Given the description of an element on the screen output the (x, y) to click on. 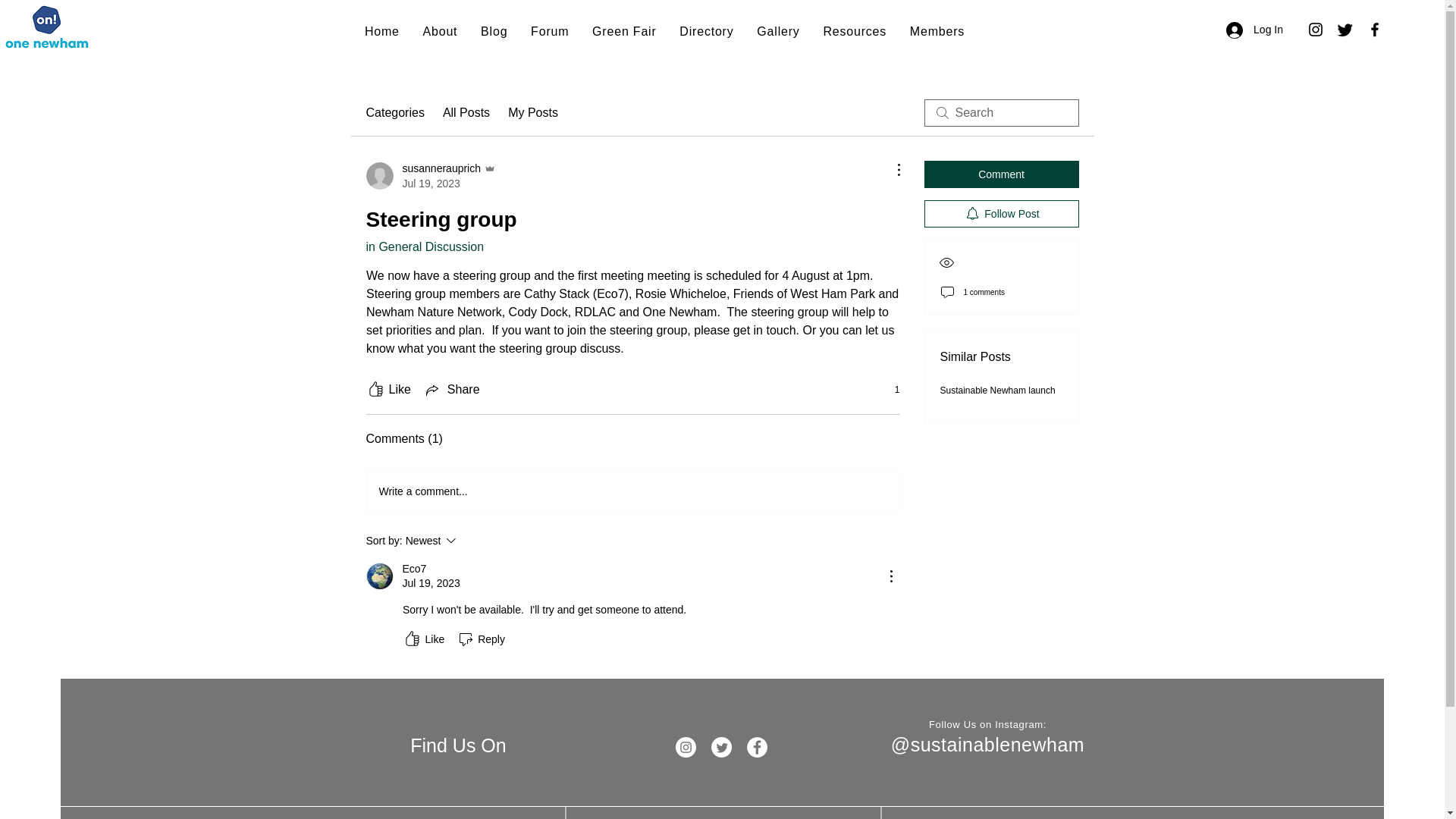
Comment (1000, 174)
All Posts (465, 113)
Like (422, 638)
Eco7 (379, 575)
Sustainable Newham launch (997, 389)
About (439, 31)
Follow Post (471, 540)
Green Fair (1000, 213)
Log In (624, 31)
Directory (1254, 30)
Members (706, 31)
in General Discussion (936, 31)
Reply (430, 175)
